Given the description of an element on the screen output the (x, y) to click on. 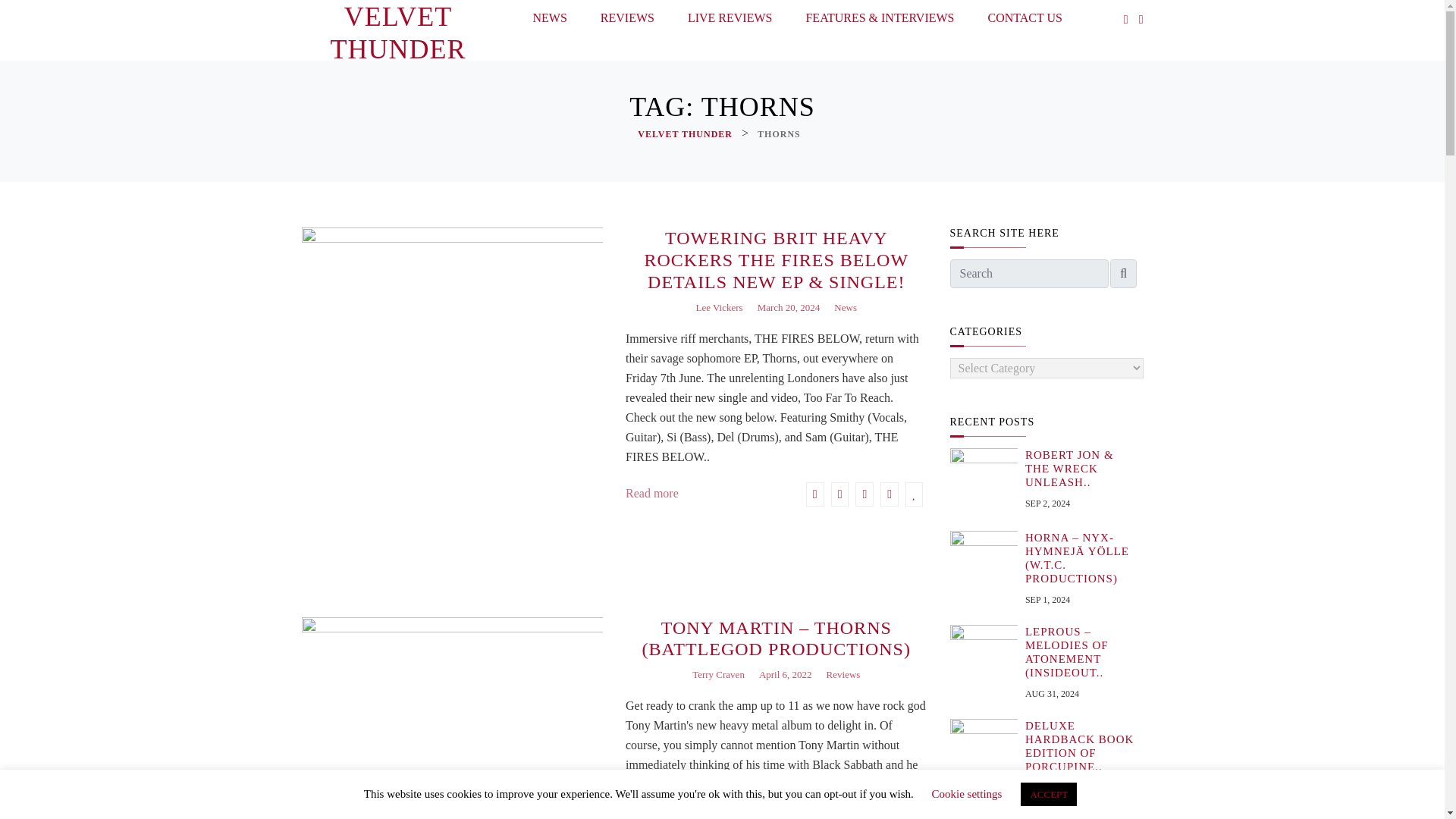
CONTACT US (1024, 21)
News (845, 307)
VELVET THUNDER (398, 33)
Reviews (843, 674)
LIVE REVIEWS (729, 21)
NEWS (548, 21)
Lee Vickers (718, 307)
Go to VELVET THUNDER. (686, 134)
REVIEWS (627, 21)
Read more (652, 493)
